Given the description of an element on the screen output the (x, y) to click on. 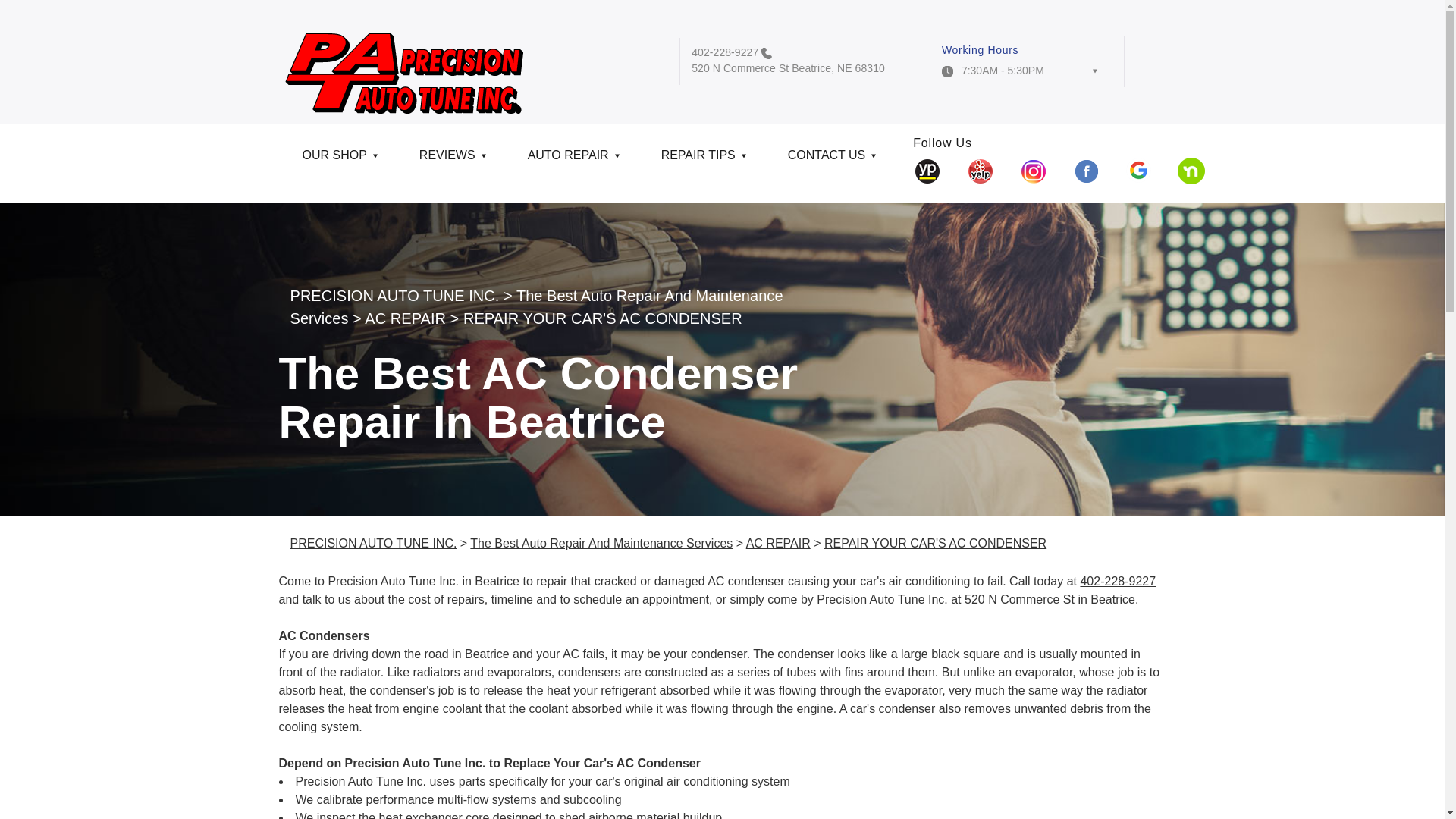
REPAIR TIPS (700, 161)
402-228-9227 (724, 51)
7:30AM - 5:30PM (1019, 74)
OUR SHOP (337, 161)
REVIEWS (449, 161)
AUTO REPAIR (570, 161)
CONTACT US (829, 161)
